Given the description of an element on the screen output the (x, y) to click on. 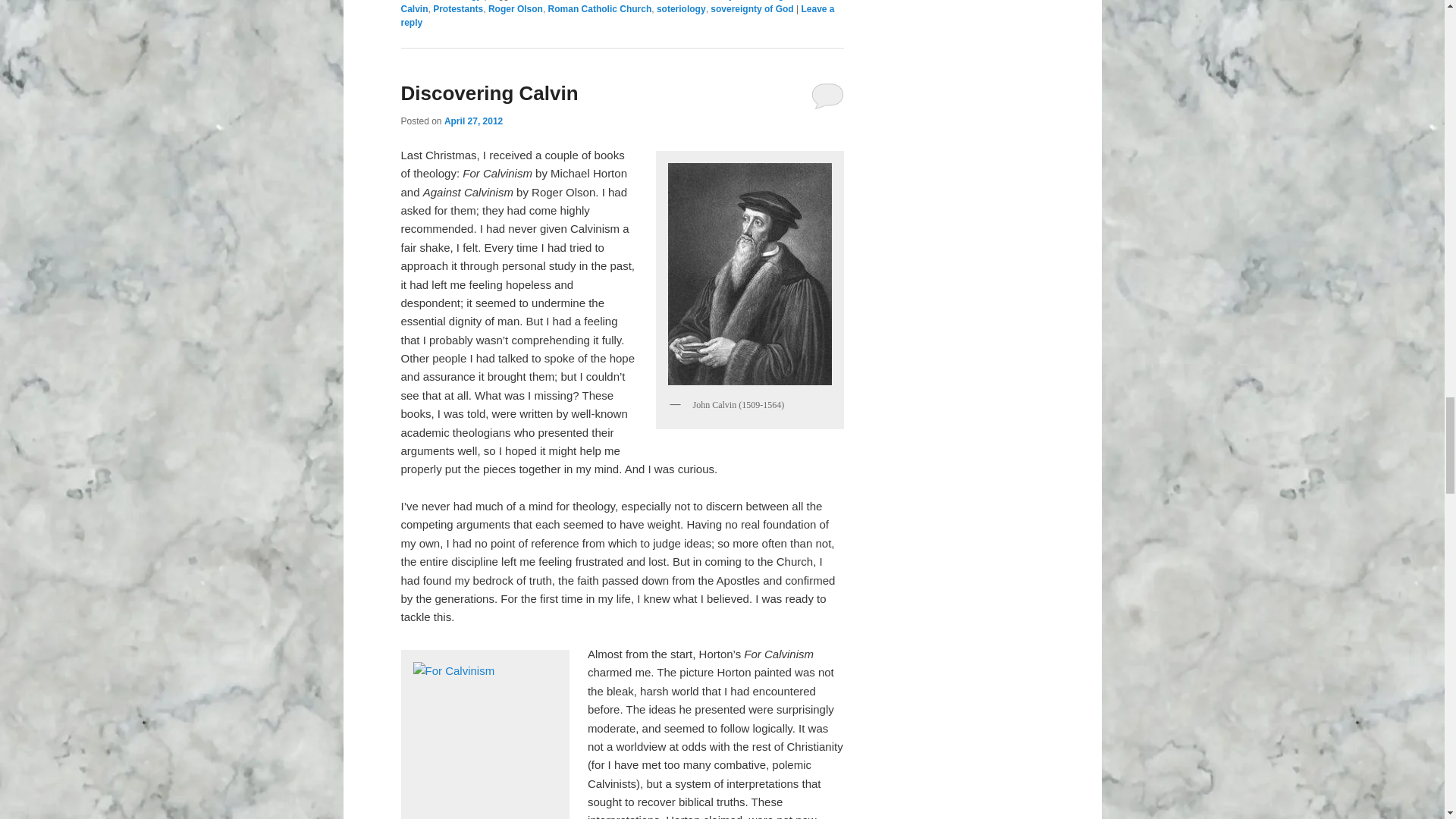
Catholicism (652, 0)
Theology (461, 0)
11:24 pm (473, 121)
Christianity (708, 0)
book review (547, 0)
For Calvinism (484, 737)
Calvinism (601, 0)
